Given the description of an element on the screen output the (x, y) to click on. 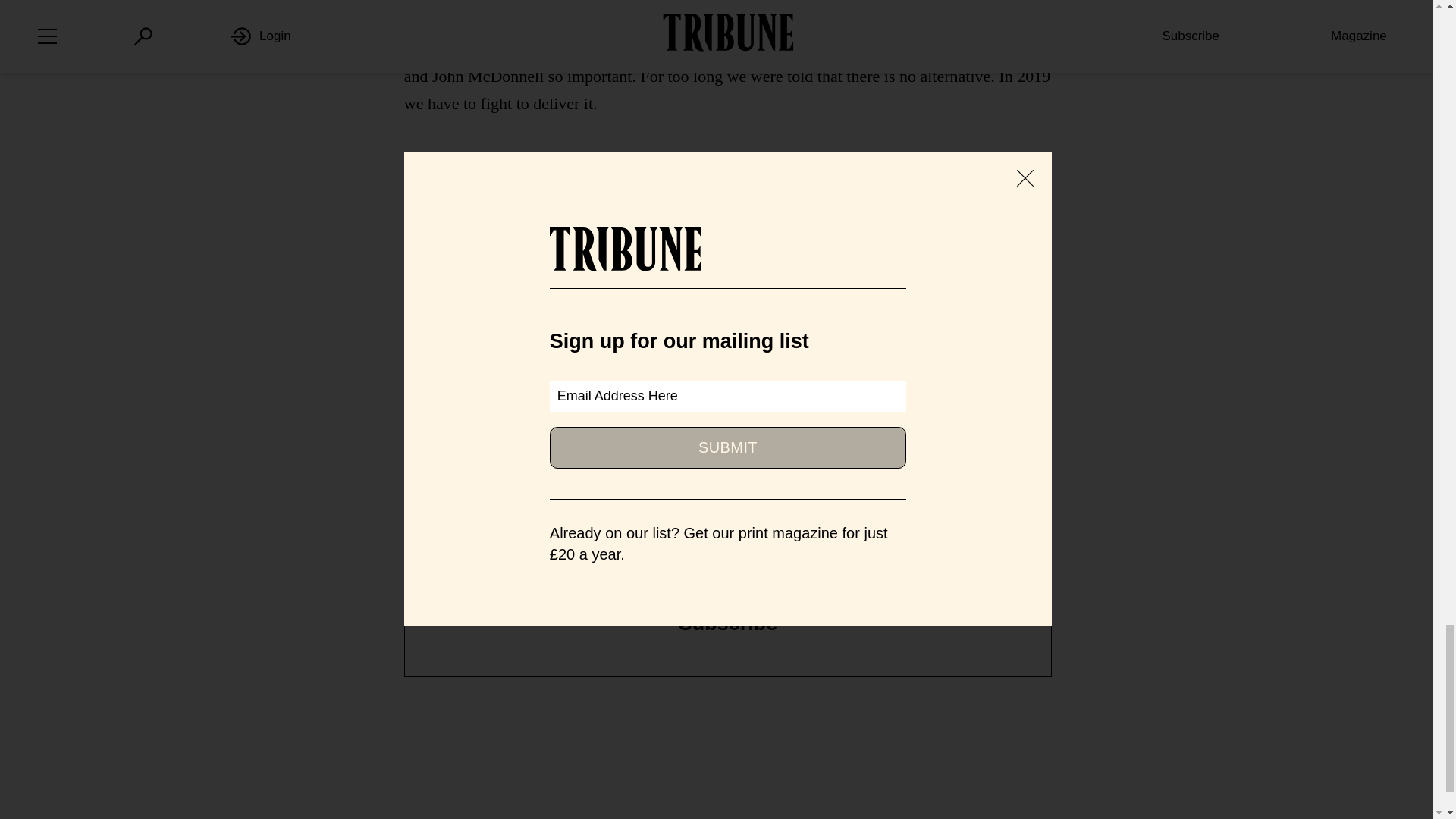
Subscribe (727, 622)
Twitter (837, 429)
Facebook (696, 429)
Email (962, 429)
